Given the description of an element on the screen output the (x, y) to click on. 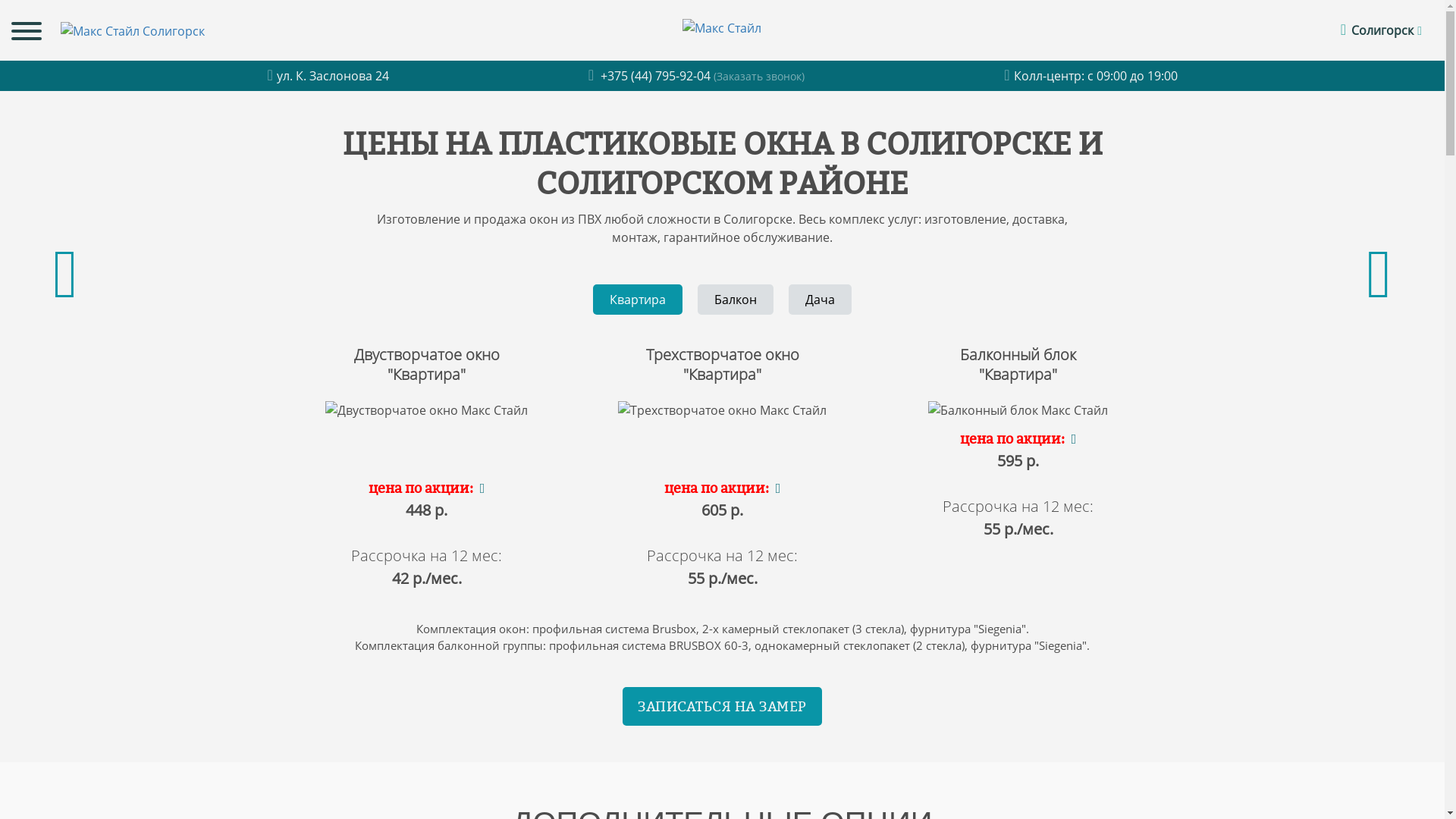
+375 (44) 795-92-04 Element type: text (650, 75)
